Given the description of an element on the screen output the (x, y) to click on. 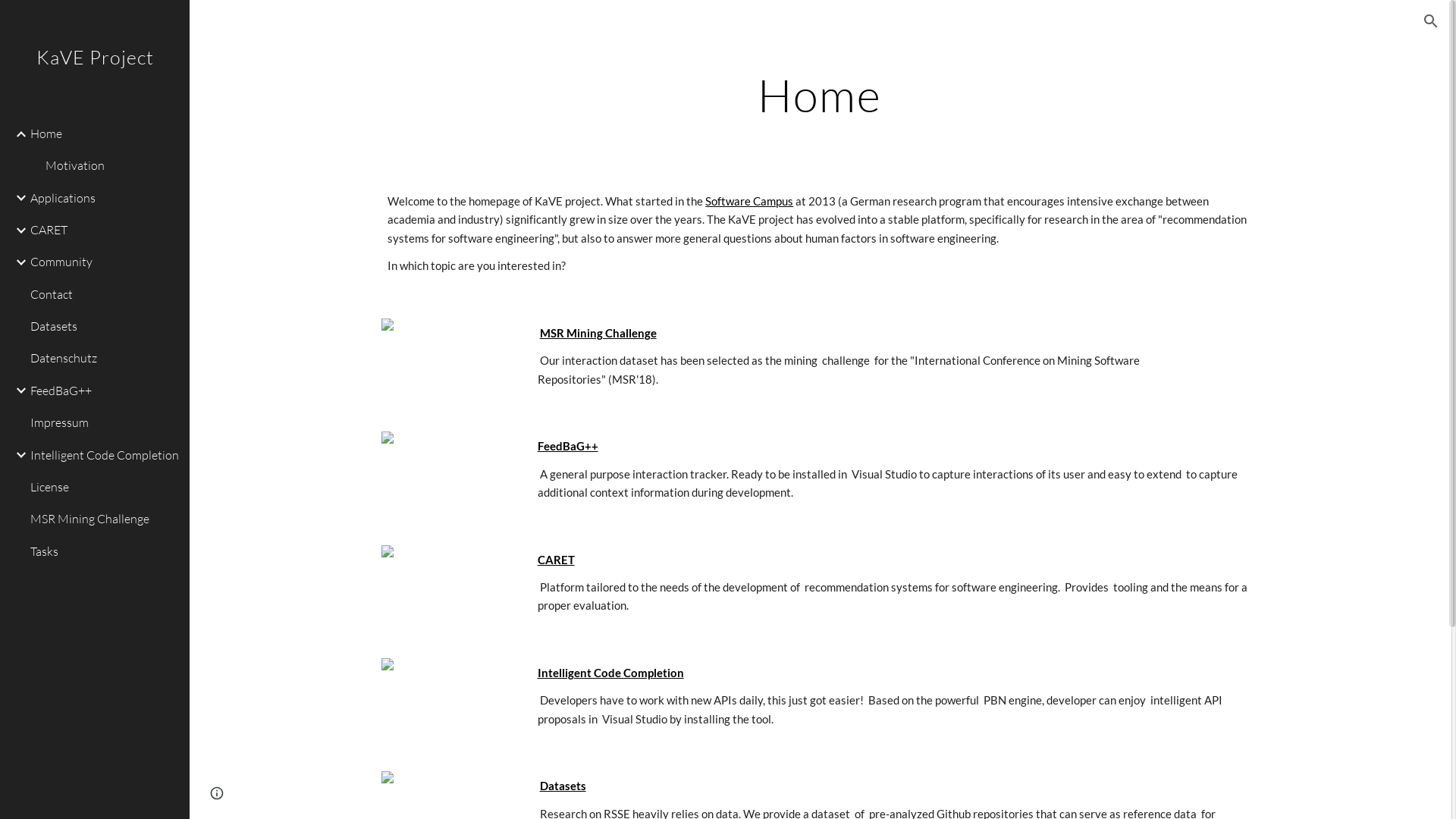
FeedBaG++ Element type: text (103, 390)
Datasets Element type: text (562, 785)
Contact Element type: text (103, 294)
Applications Element type: text (103, 197)
MSR Mining Challenge Element type: text (597, 332)
Expand/Collapse Element type: hover (16, 230)
CARET Element type: text (555, 559)
Software Campus Element type: text (749, 200)
Intelligent Code Completion Element type: text (103, 454)
FeedBaG++ Element type: text (567, 445)
License Element type: text (103, 486)
Expand/Collapse Element type: hover (16, 134)
Impressum Element type: text (103, 423)
Motivation Element type: text (111, 166)
CARET Element type: text (103, 229)
Intelligent Code Completion Element type: text (610, 672)
Tasks Element type: text (103, 551)
Expand/Collapse Element type: hover (16, 197)
Datenschutz Element type: text (103, 358)
Community Element type: text (103, 262)
Expand/Collapse Element type: hover (16, 262)
MSR Mining Challenge Element type: text (103, 519)
Datasets Element type: text (103, 326)
Expand/Collapse Element type: hover (16, 390)
KaVE Project Element type: text (94, 76)
Expand/Collapse Element type: hover (16, 454)
Home Element type: text (103, 133)
